Given the description of an element on the screen output the (x, y) to click on. 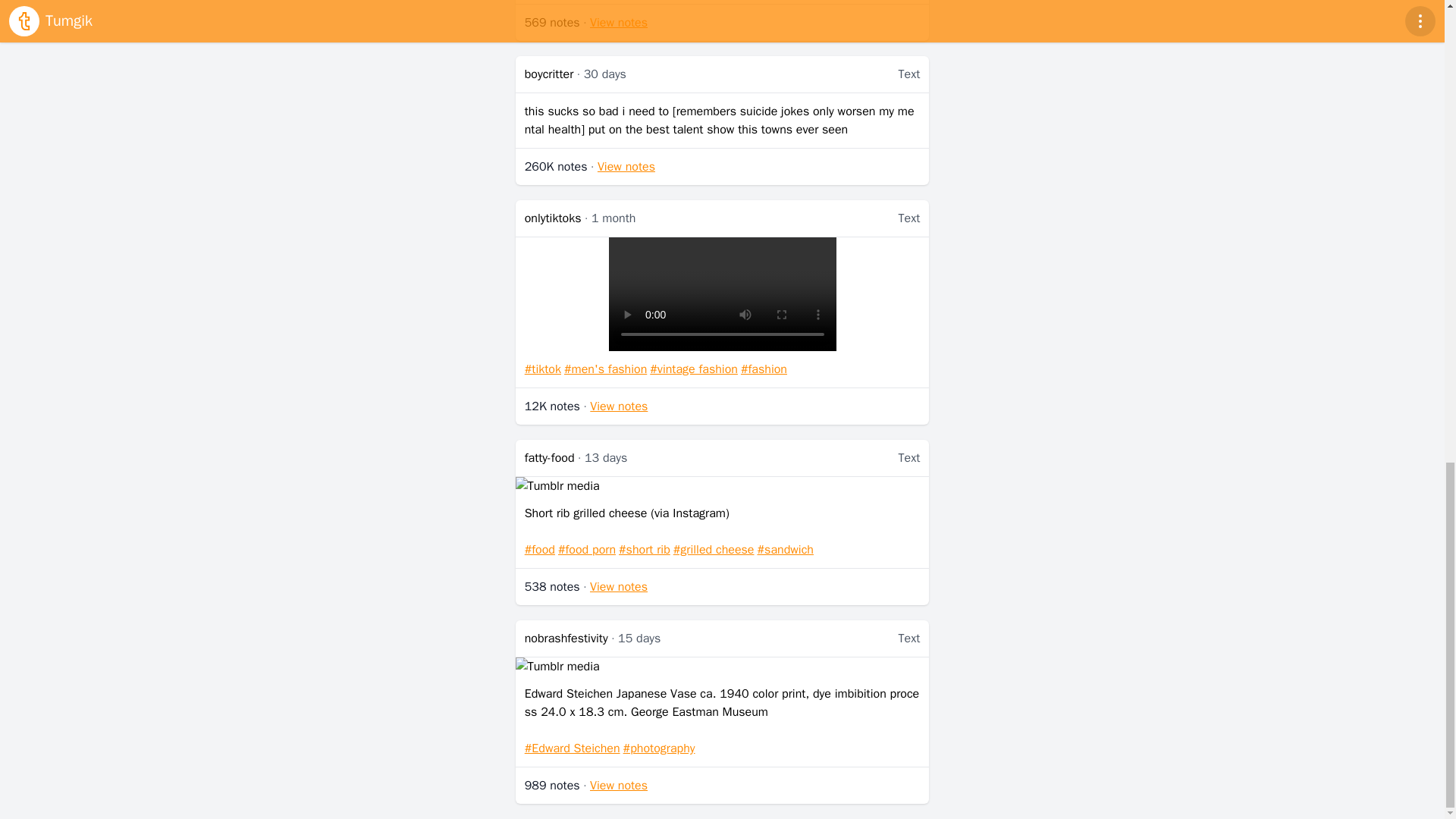
onlytiktoks (552, 218)
fatty-food (549, 458)
boycritter (548, 73)
